Given the description of an element on the screen output the (x, y) to click on. 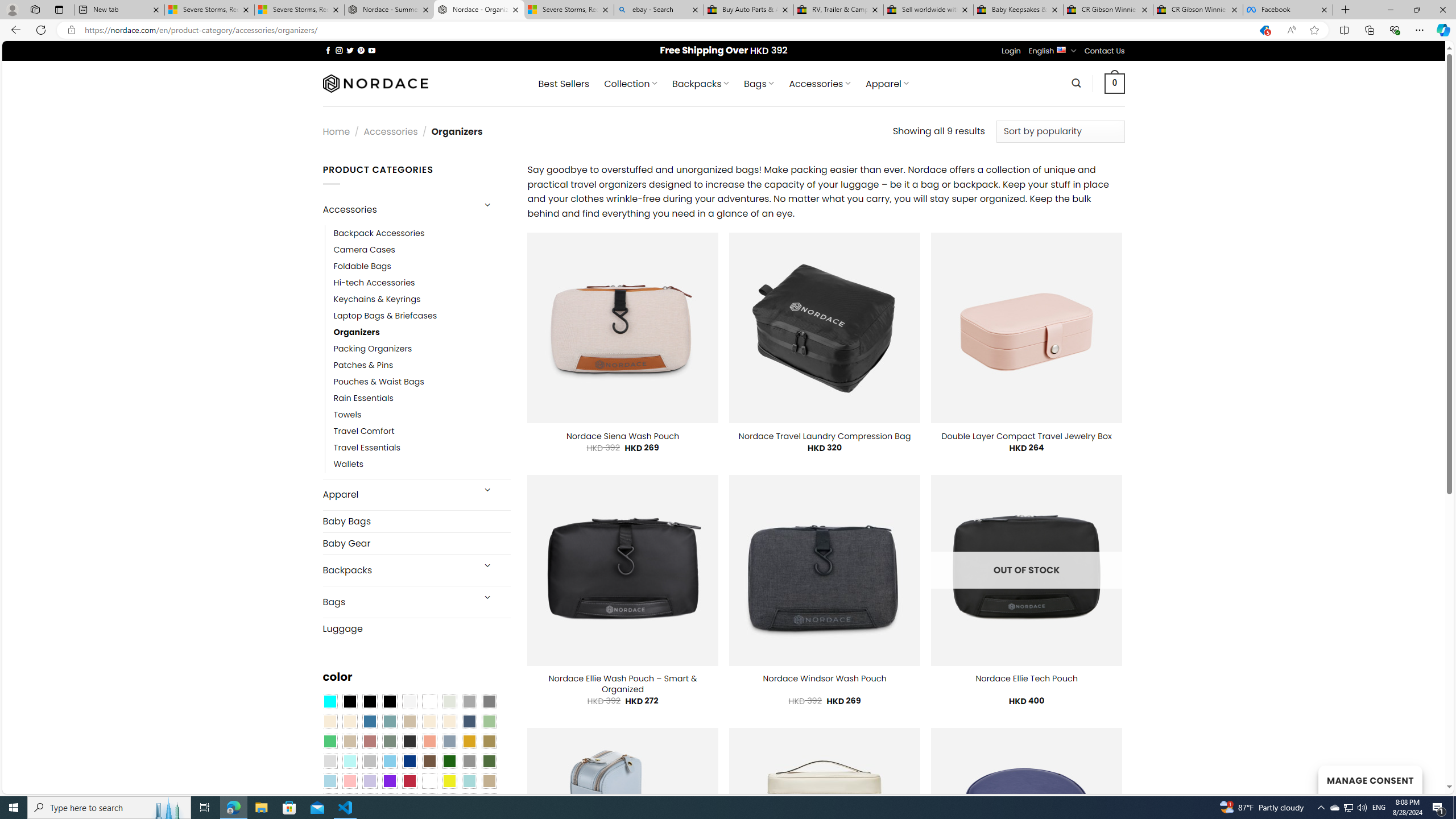
Luggage (416, 627)
Dusty Blue (449, 741)
Emerald Green (329, 741)
Rose (369, 741)
Double Layer Compact Travel Jewelry Box (1026, 436)
Clear (429, 701)
Foldable Bags (362, 265)
Rain Essentials (422, 398)
Accessories (397, 209)
Light Taupe (349, 741)
Red (408, 780)
Nordace Windsor Wash Pouch (824, 678)
Keychains & Keyrings (376, 298)
Nordace - Summer Adventures 2024 (389, 9)
Follow on Twitter (349, 49)
